Given the description of an element on the screen output the (x, y) to click on. 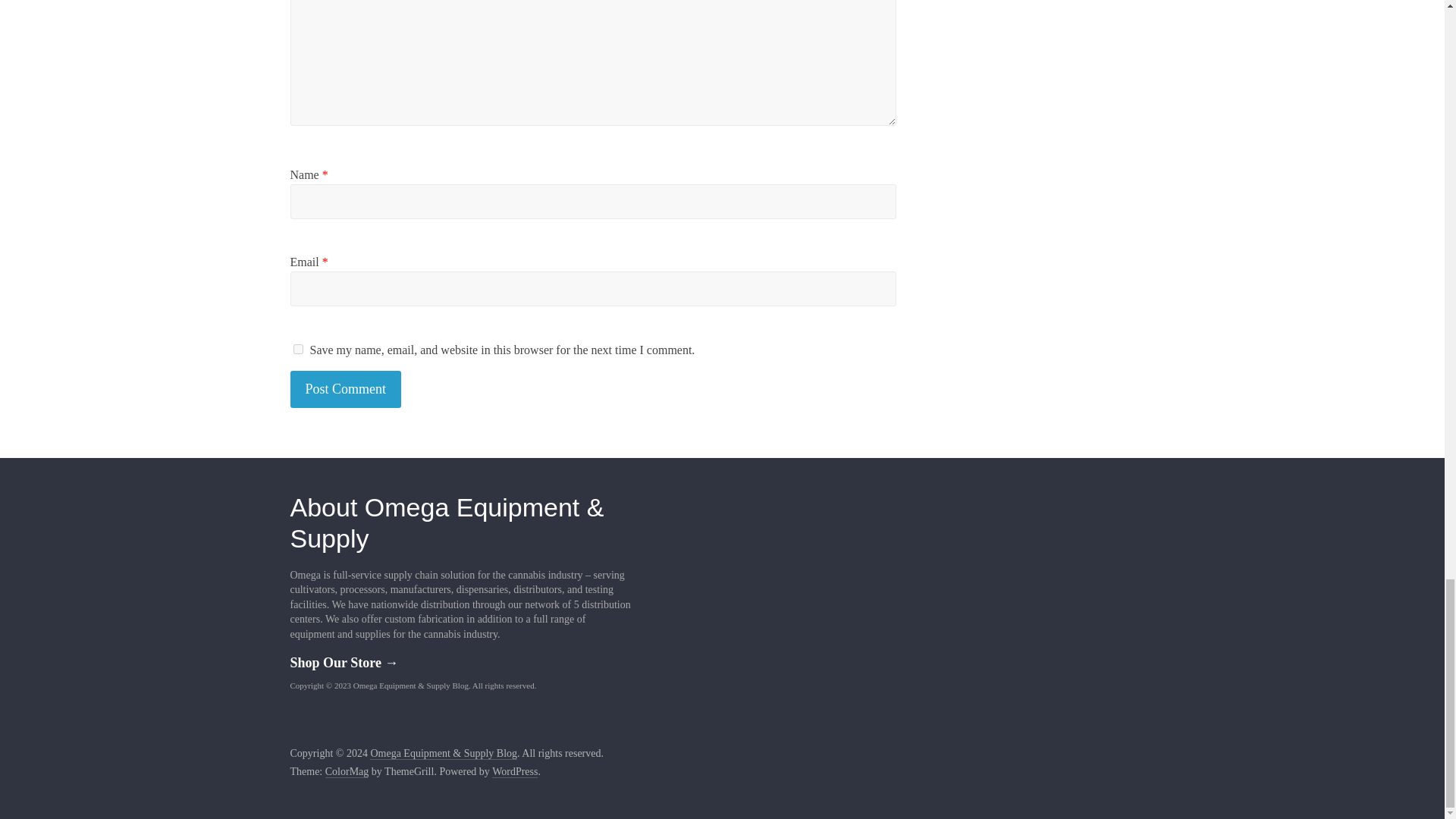
Post Comment (345, 389)
Post Comment (345, 389)
yes (297, 348)
